Given the description of an element on the screen output the (x, y) to click on. 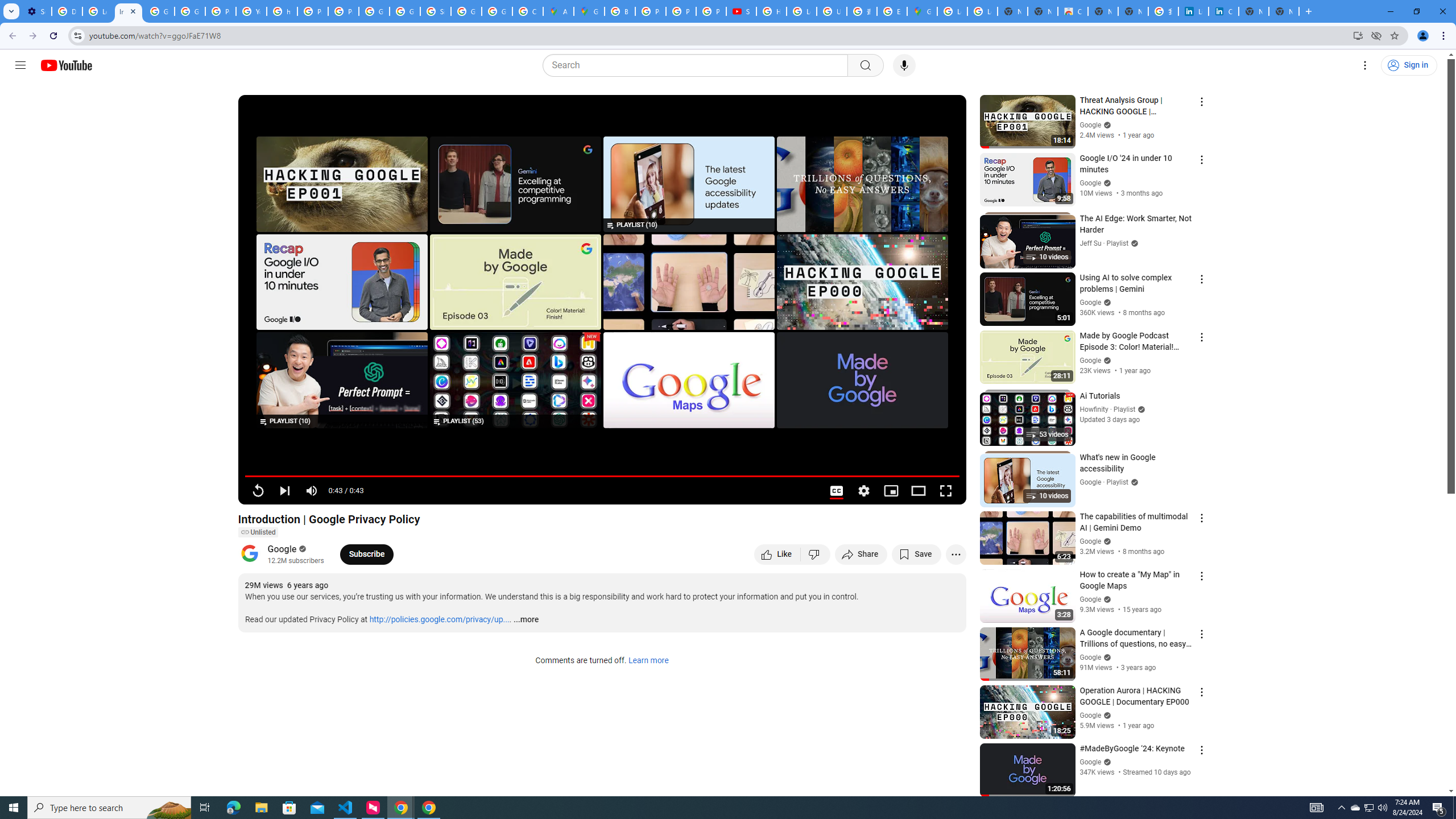
Install YouTube (1358, 35)
Watch Ai Tutorials (515, 380)
Blogger Policies and Guidelines - Transparency Center (619, 11)
Verified (1106, 761)
Delete photos & videos - Computer - Google Photos Help (66, 11)
Subtitles/closed captions unavailable (836, 490)
Settings (863, 490)
http://policies.google.com/privacy/up... (439, 619)
Sign in - Google Accounts (434, 11)
Privacy Help Center - Policies Help (220, 11)
